Given the description of an element on the screen output the (x, y) to click on. 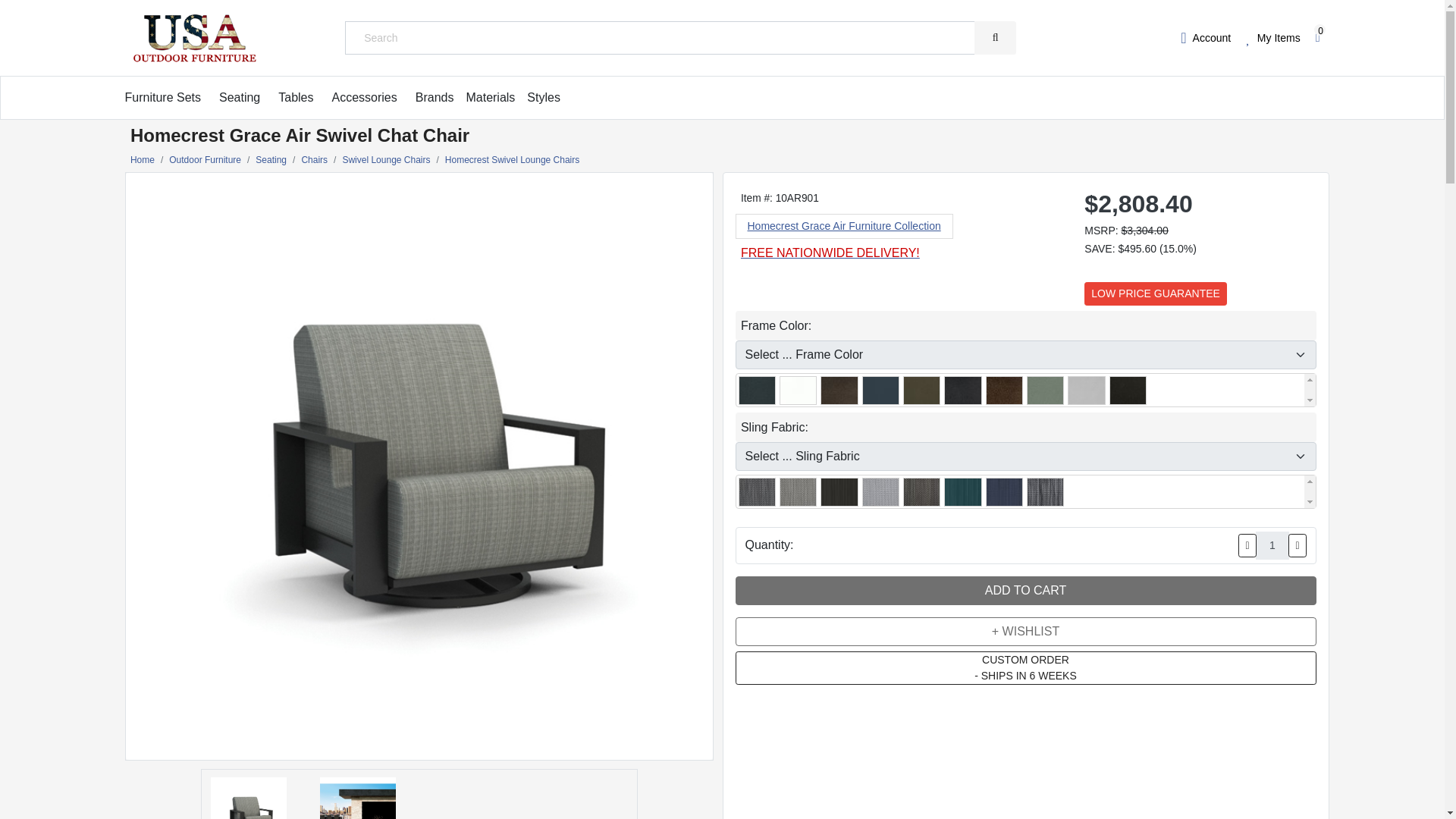
1 (1272, 545)
Account (1205, 37)
Seating (239, 97)
My Items (1273, 37)
Tables (295, 97)
PayPal Message 1 (1197, 264)
Add to Cart (1025, 590)
Furniture Sets (161, 97)
